Given the description of an element on the screen output the (x, y) to click on. 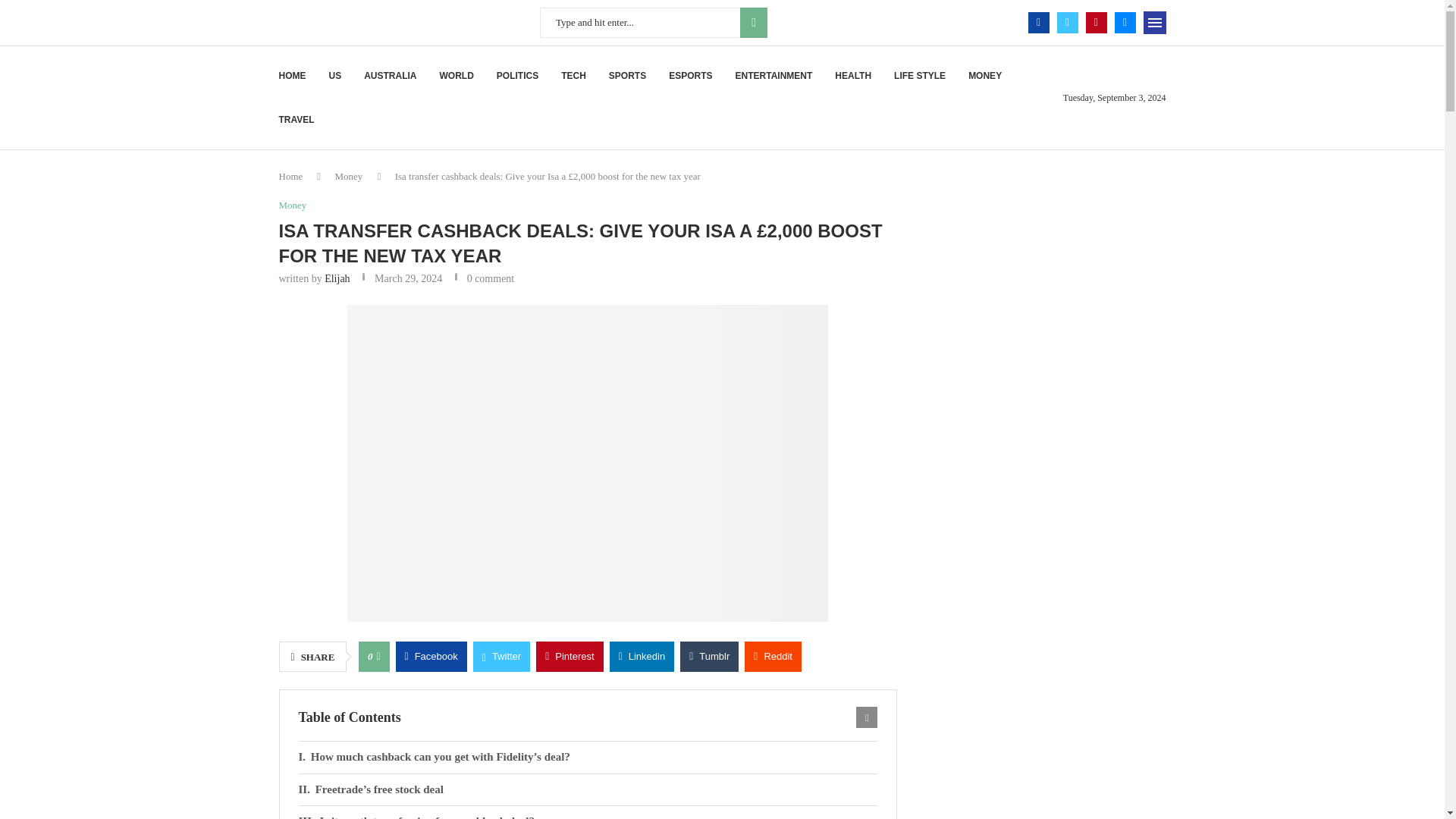
POLITICS (517, 75)
AUSTRALIA (390, 75)
Is it worth transferring for a cashback deal? (587, 812)
LIFE STYLE (918, 75)
ENTERTAINMENT (773, 75)
SEARCH (753, 22)
ESPORTS (689, 75)
